Given the description of an element on the screen output the (x, y) to click on. 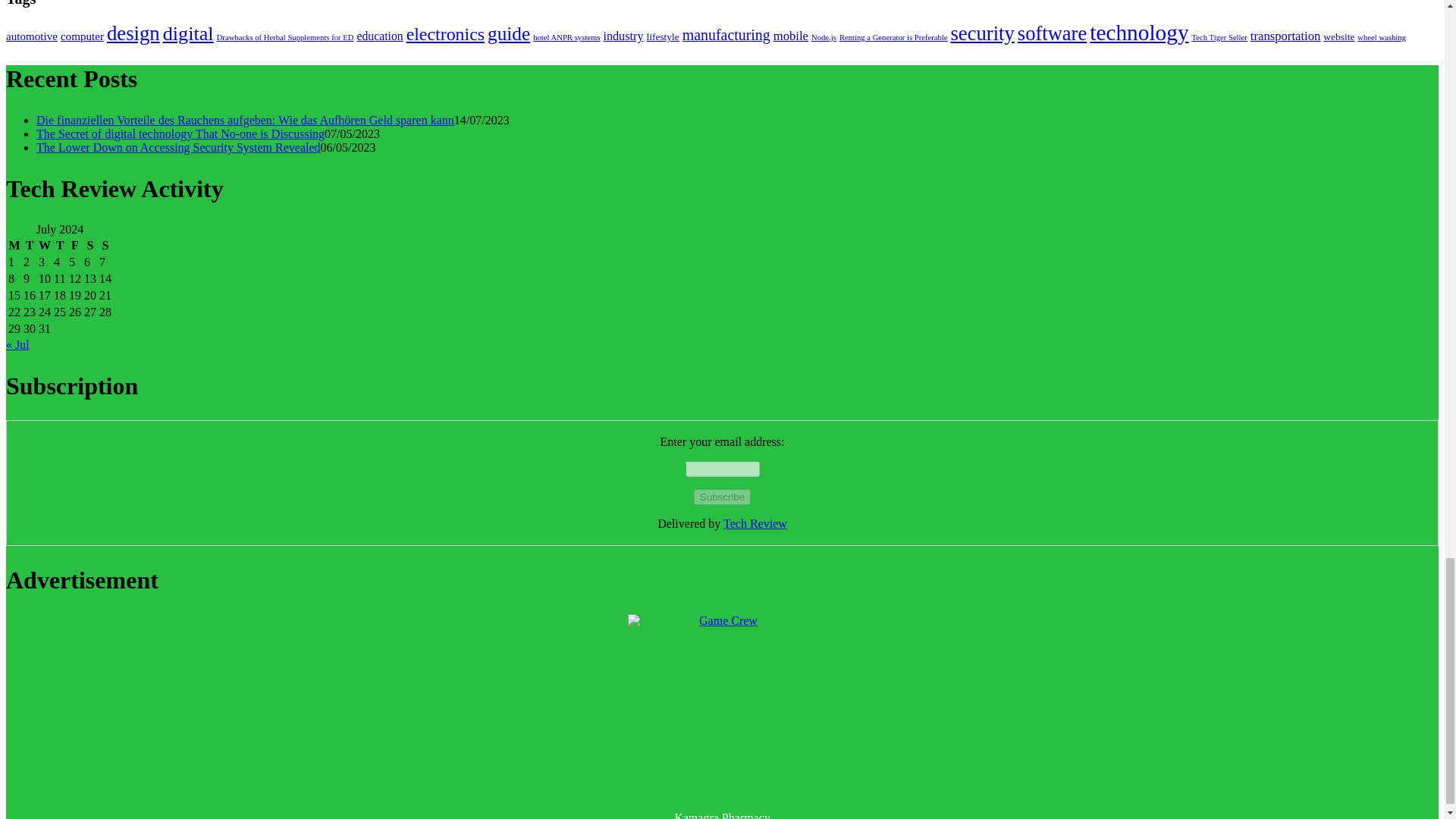
Game Crew (721, 708)
Thursday (59, 245)
Friday (74, 245)
Tuesday (29, 245)
Saturday (89, 245)
Sunday (105, 245)
Monday (14, 245)
Wednesday (43, 245)
Subscribe (722, 496)
